Given the description of an element on the screen output the (x, y) to click on. 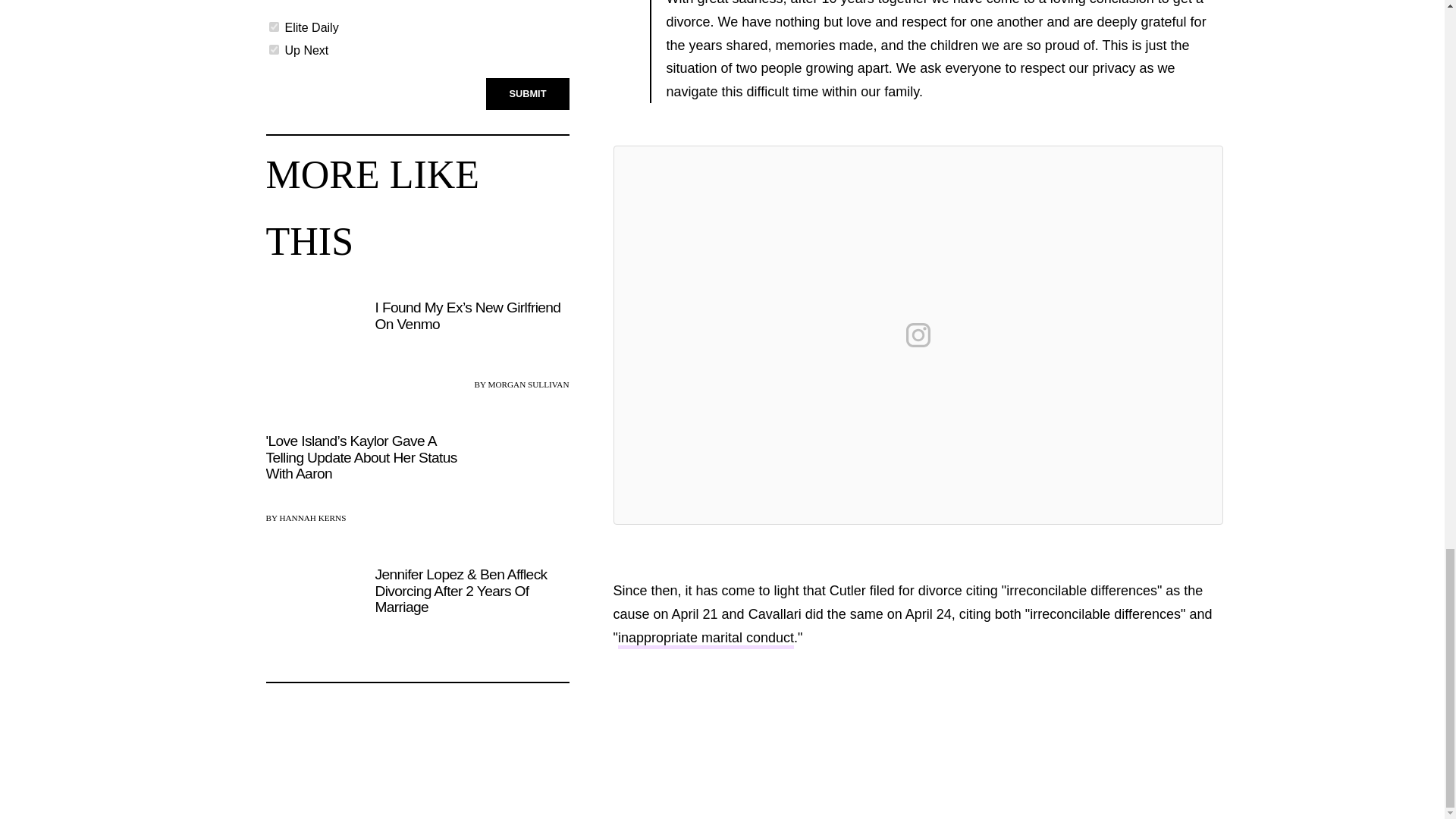
SUBMIT (527, 92)
inappropriate marital conduct (705, 639)
View on Instagram (917, 334)
